Given the description of an element on the screen output the (x, y) to click on. 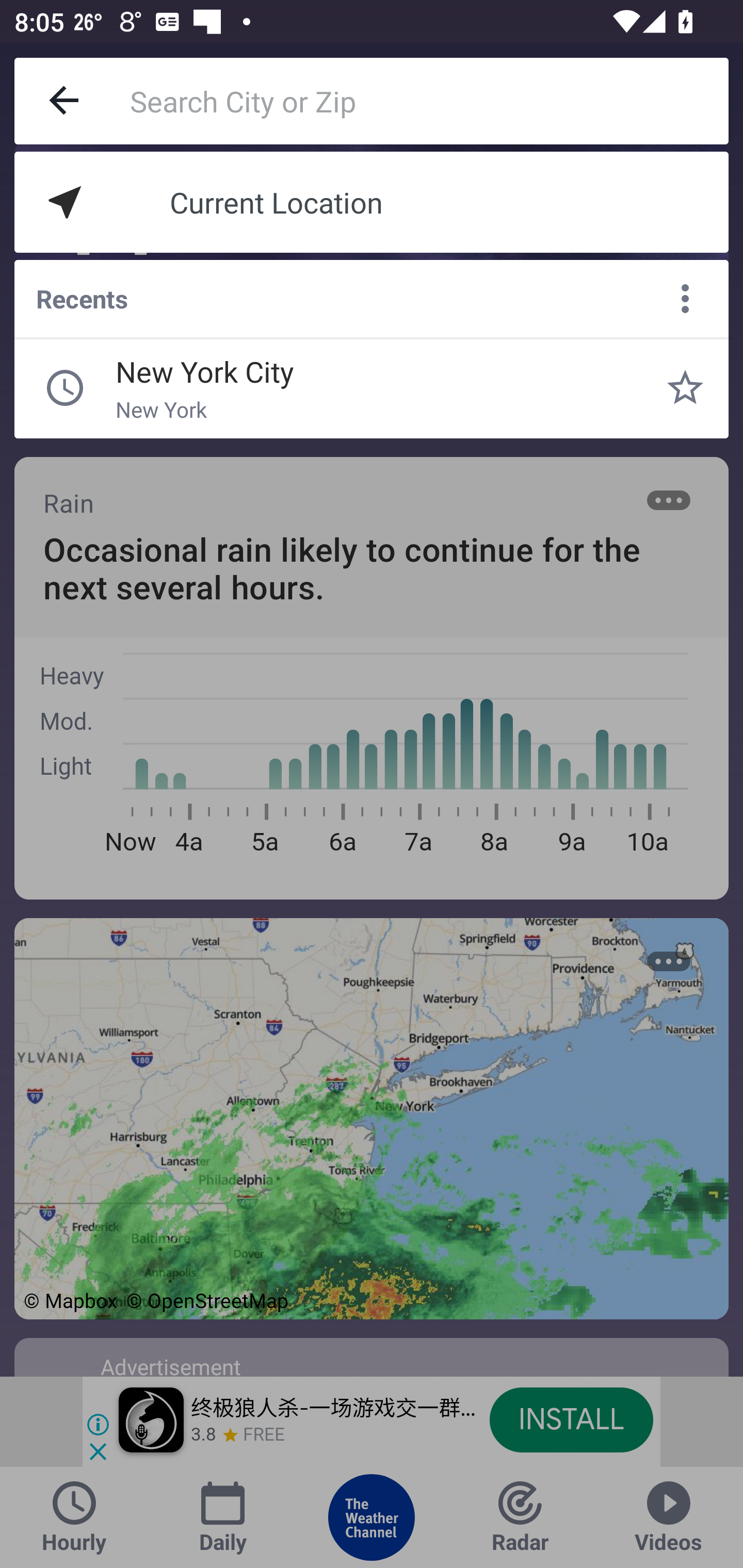
Back (64, 101)
Search City or Zip (429, 100)
Current Location (371, 202)
more (685, 298)
New York City New York Add to favorites (684, 387)
